Given the description of an element on the screen output the (x, y) to click on. 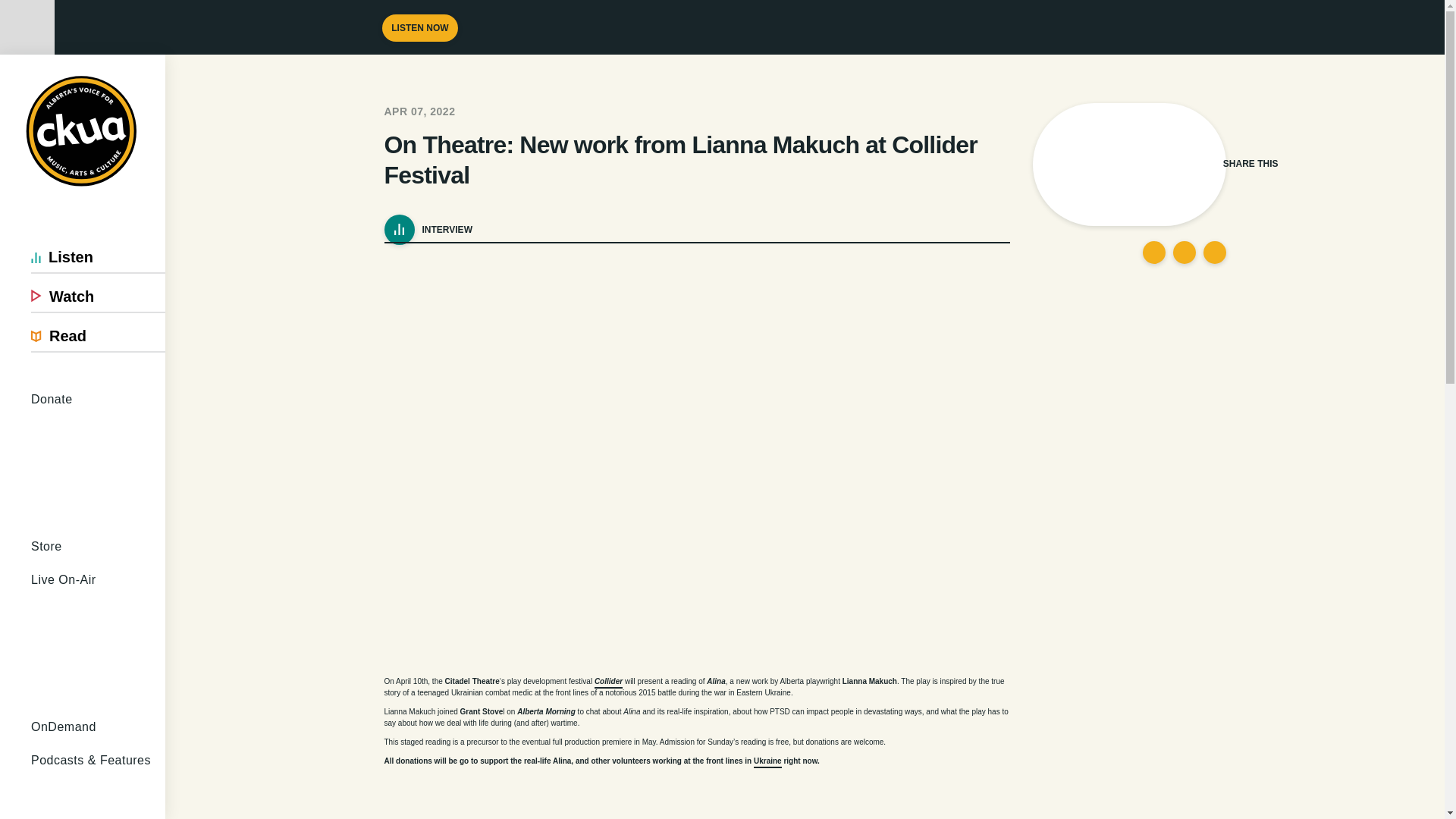
CKUA Home (82, 132)
Watch (97, 296)
Next Level (103, 794)
OnDemand (97, 726)
Live On-Air (97, 636)
Listen (97, 256)
Store (97, 546)
Read (97, 336)
Donate (97, 456)
On Air Now (183, 65)
